Given the description of an element on the screen output the (x, y) to click on. 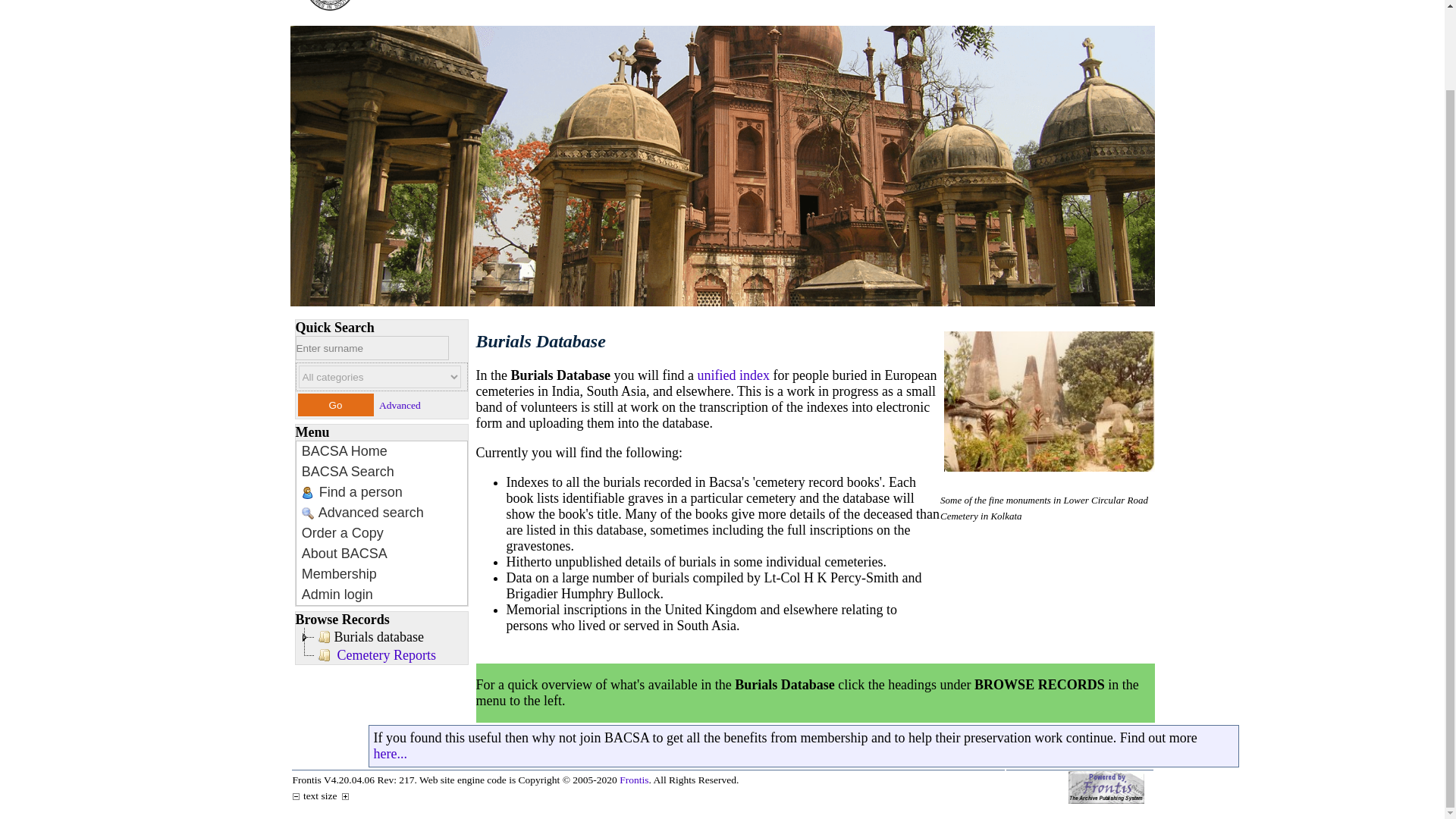
Admin login (336, 594)
Click to view records (385, 654)
Frontis (633, 779)
here... (733, 5)
Go (389, 753)
unified index (334, 404)
Go (733, 375)
About BACSA (334, 404)
BACSA Home (344, 553)
